Given the description of an element on the screen output the (x, y) to click on. 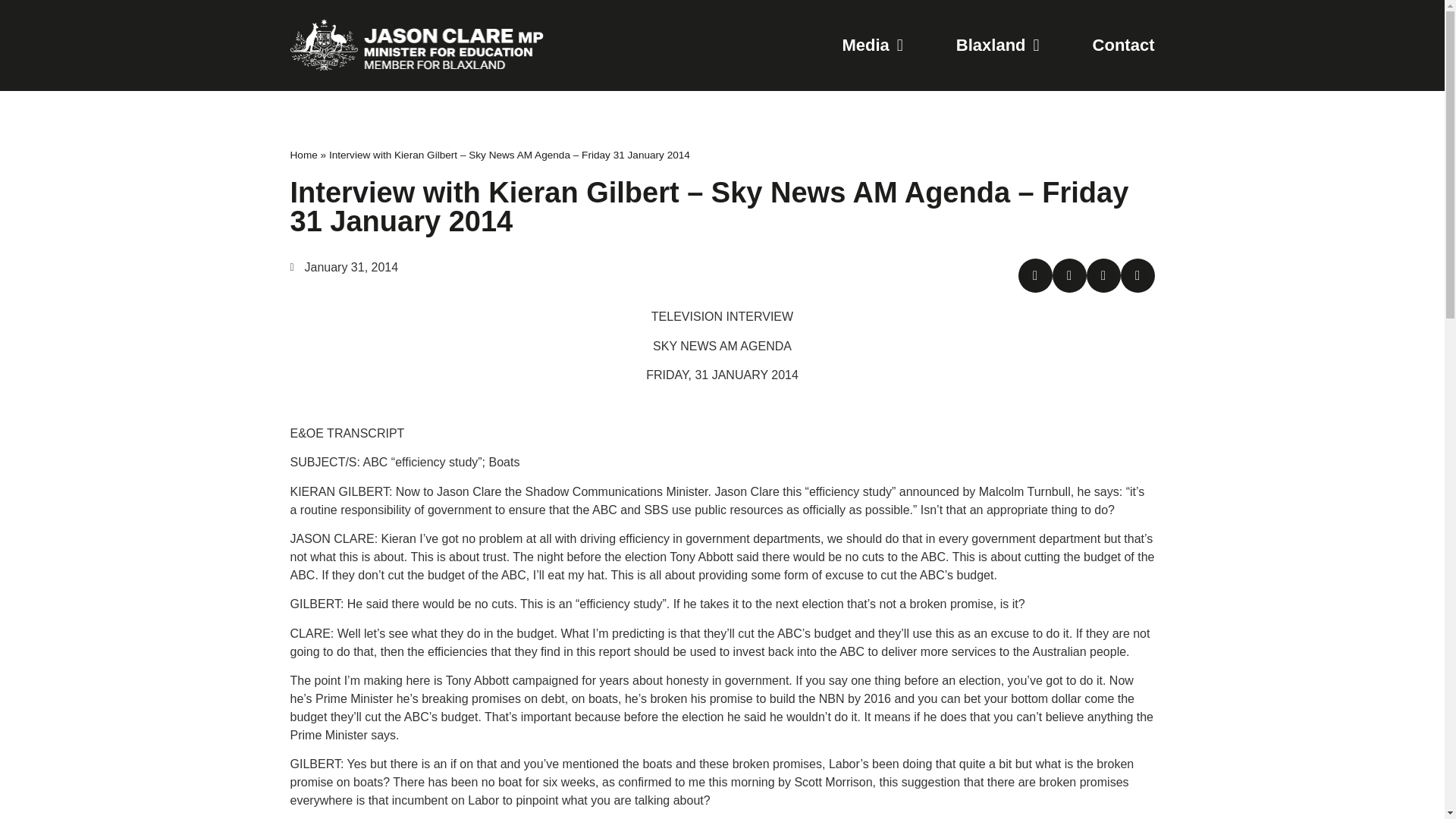
Media (871, 45)
Blaxland (997, 45)
Contact (1123, 45)
